Given the description of an element on the screen output the (x, y) to click on. 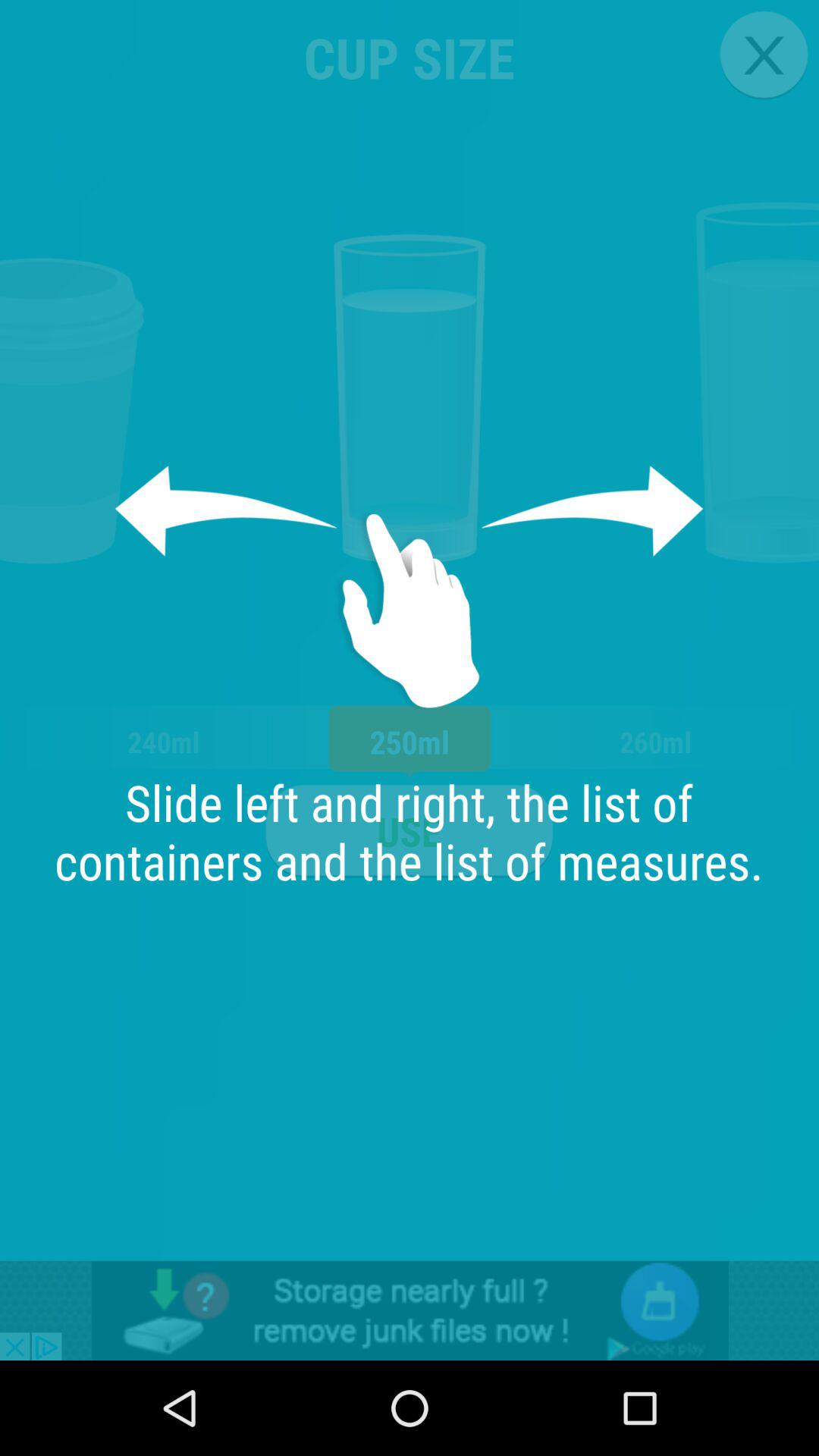
launch the item below the slide left and (409, 1310)
